Given the description of an element on the screen output the (x, y) to click on. 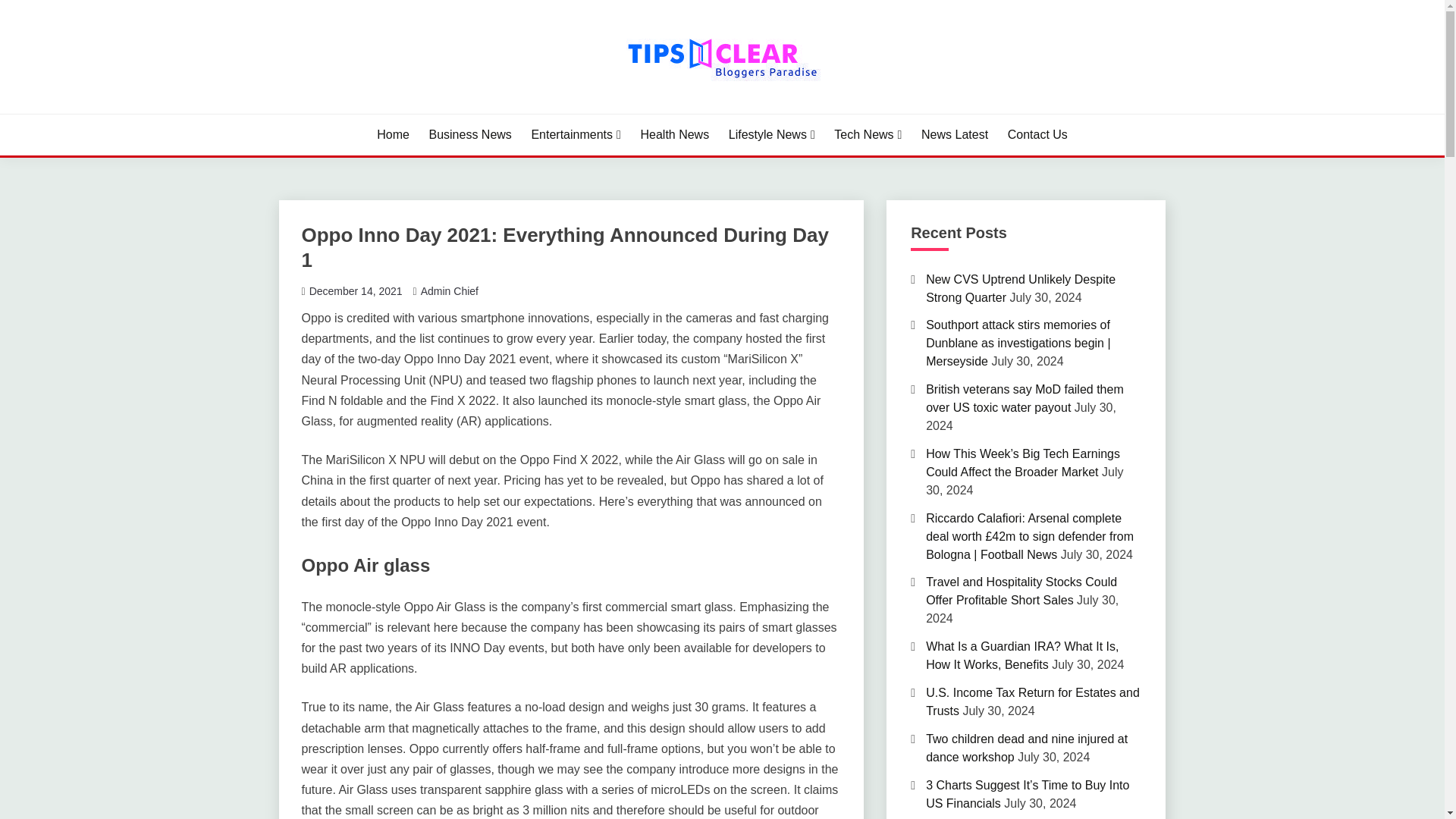
CLEAR TIPS NEWS PORTAL (467, 111)
December 14, 2021 (355, 291)
Home (393, 135)
News Latest (954, 135)
Lifestyle News (772, 135)
Health News (674, 135)
Entertainments (575, 135)
New CVS Uptrend Unlikely Despite Strong Quarter (1020, 287)
Business News (469, 135)
Admin Chief (449, 291)
Contact Us (1037, 135)
Tech News (867, 135)
